Given the description of an element on the screen output the (x, y) to click on. 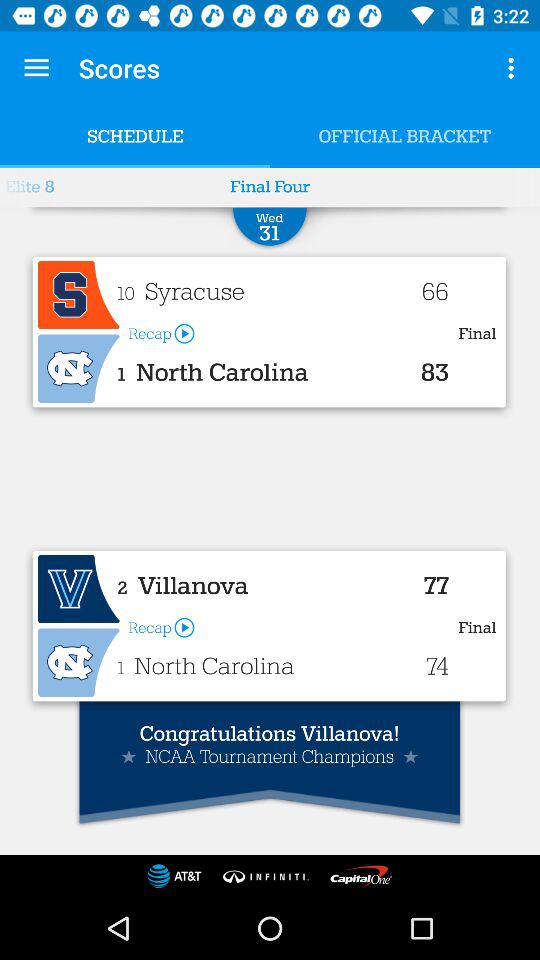
it represents the icon of syracuse (78, 295)
